Given the description of an element on the screen output the (x, y) to click on. 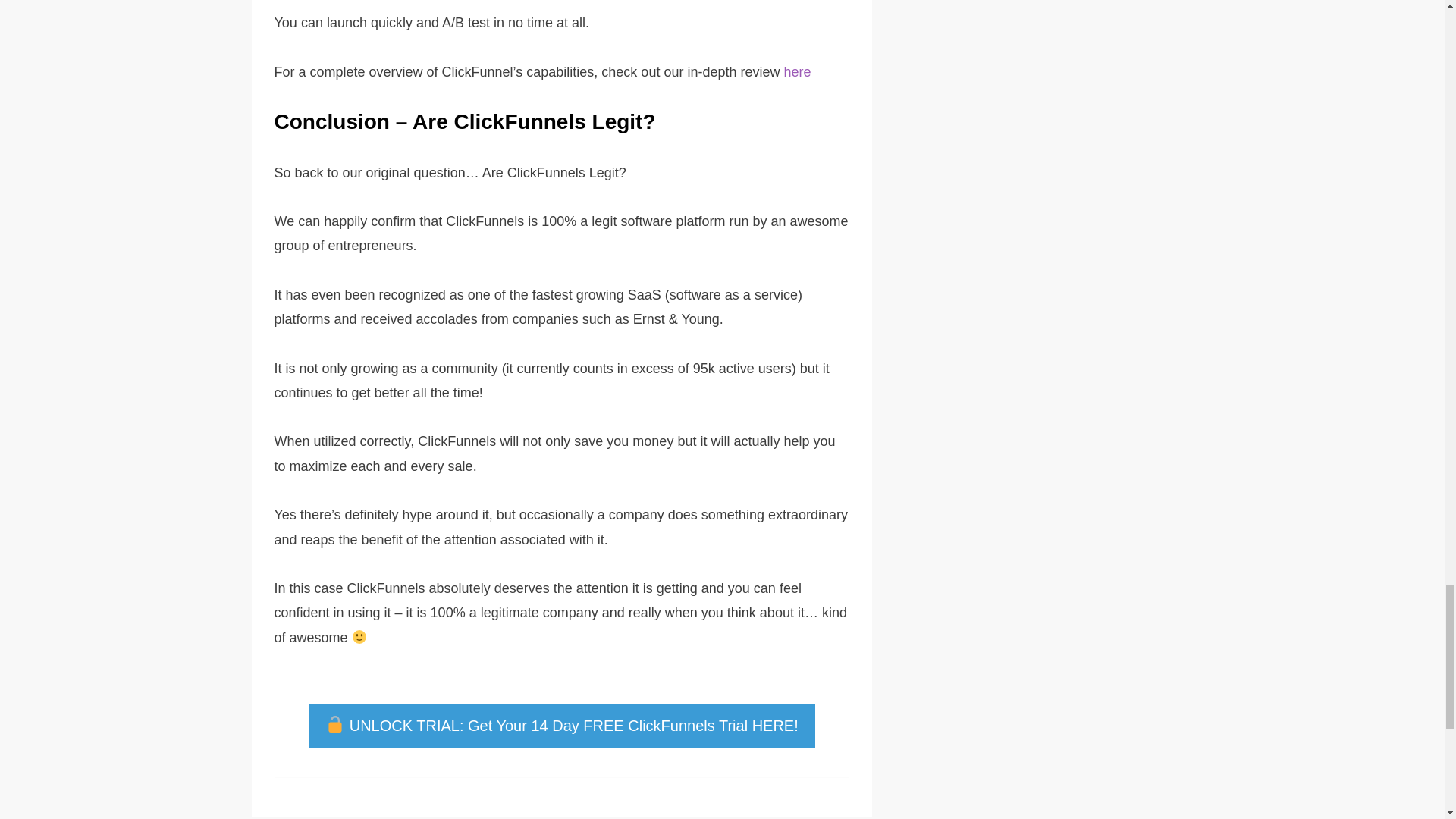
UNLOCK TRIAL: Get Your 14 Day FREE ClickFunnels Trial HERE! (560, 725)
here (796, 71)
